Given the description of an element on the screen output the (x, y) to click on. 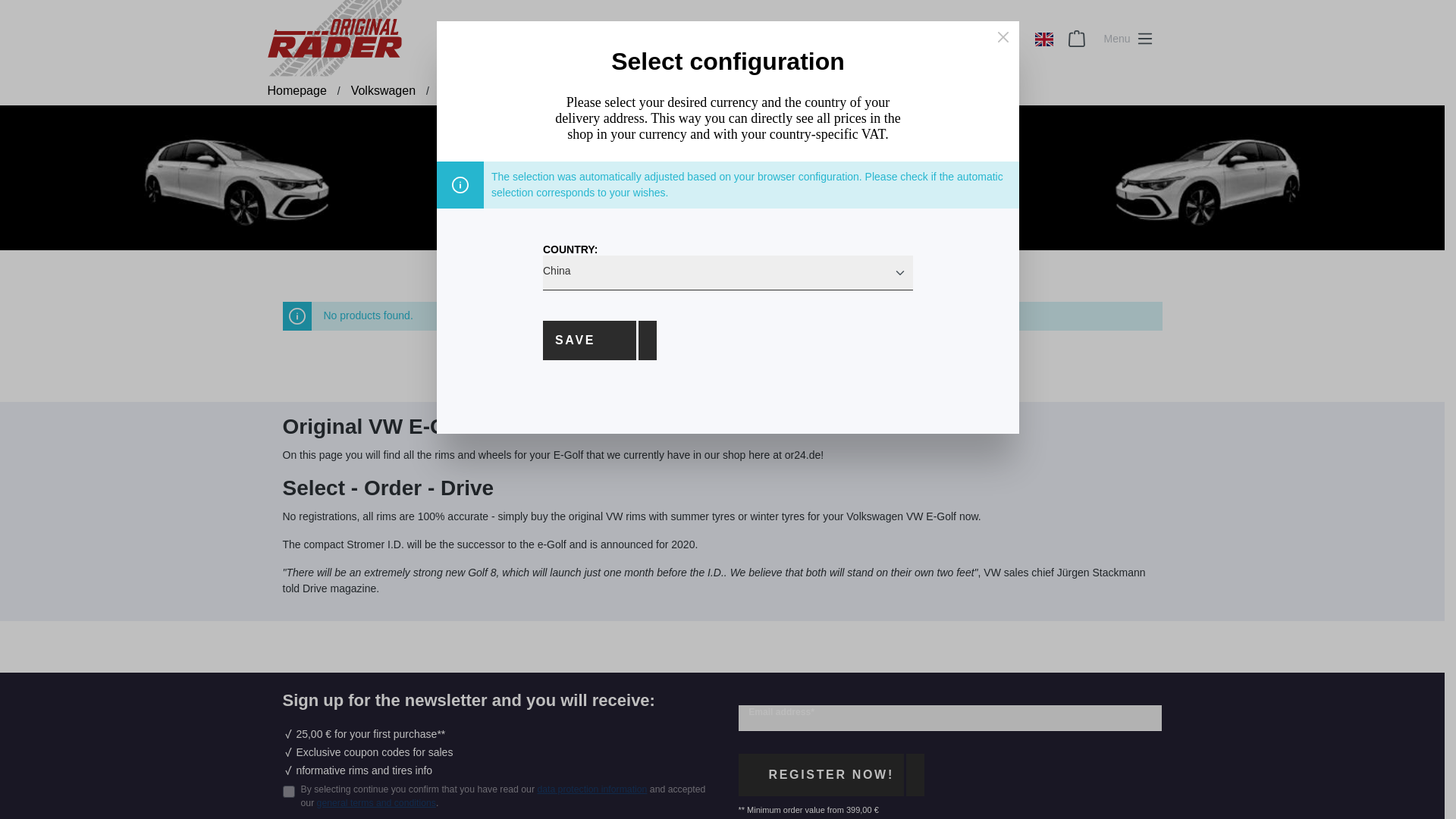
data protection information (591, 788)
on (288, 791)
Volkswagen (382, 91)
Menu (1127, 38)
Homepage (296, 91)
Zur Startseite gehen (333, 38)
Shopping cart (1076, 38)
WhatsApp (943, 47)
REGISTER NOW! (831, 774)
general terms and conditions (376, 802)
